Given the description of an element on the screen output the (x, y) to click on. 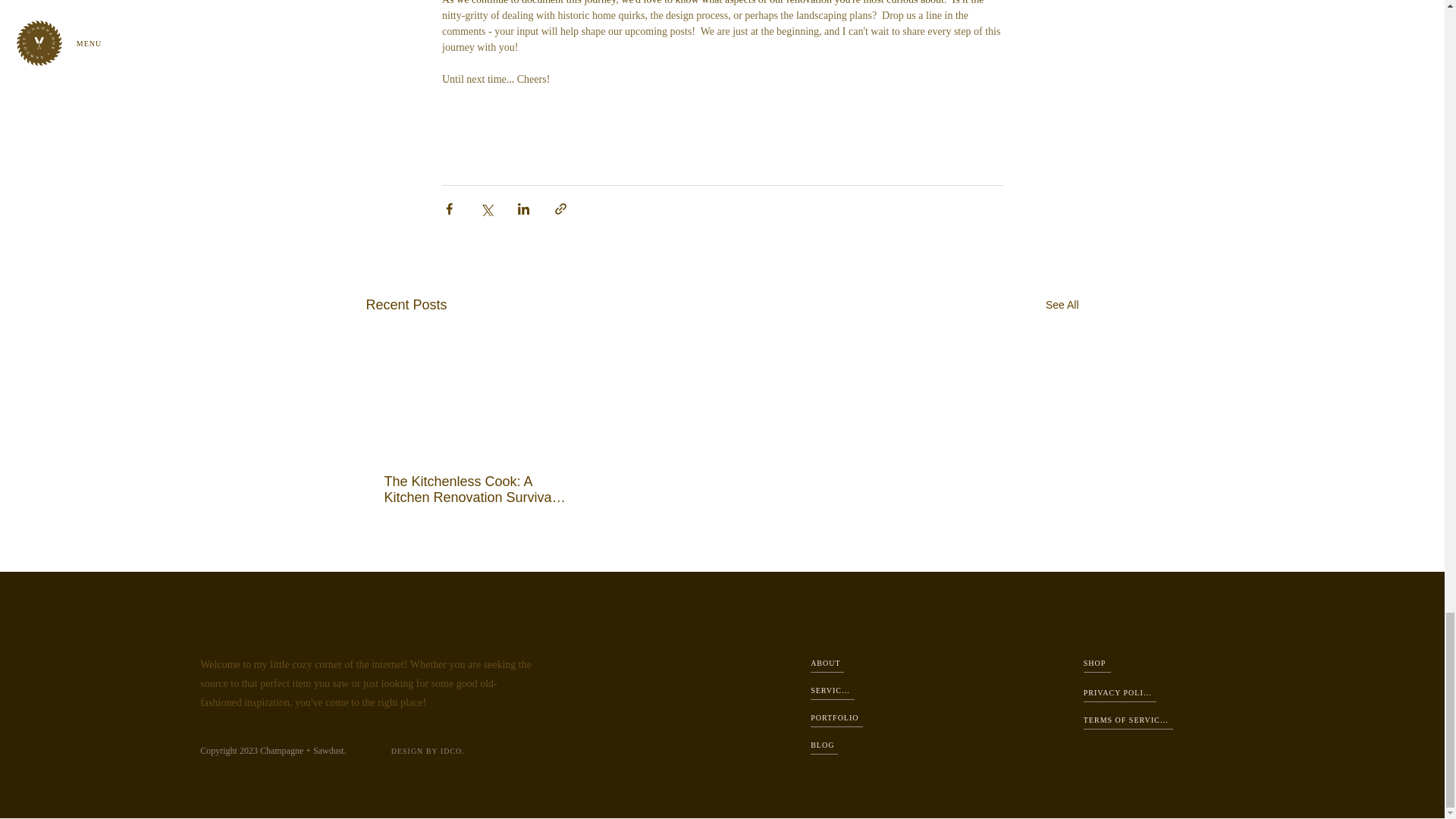
The Kitchenless Cook: A Kitchen Renovation Survival Guide (475, 490)
BLOG (824, 745)
See All (1061, 305)
PORTFOLIO (836, 718)
TERMS OF SERVICES (1128, 720)
ABOUT (827, 663)
DESIGN BY IDCO. (429, 750)
PRIVACY POLICY (1119, 692)
SERVICES (832, 691)
SHOP (1096, 663)
